Given the description of an element on the screen output the (x, y) to click on. 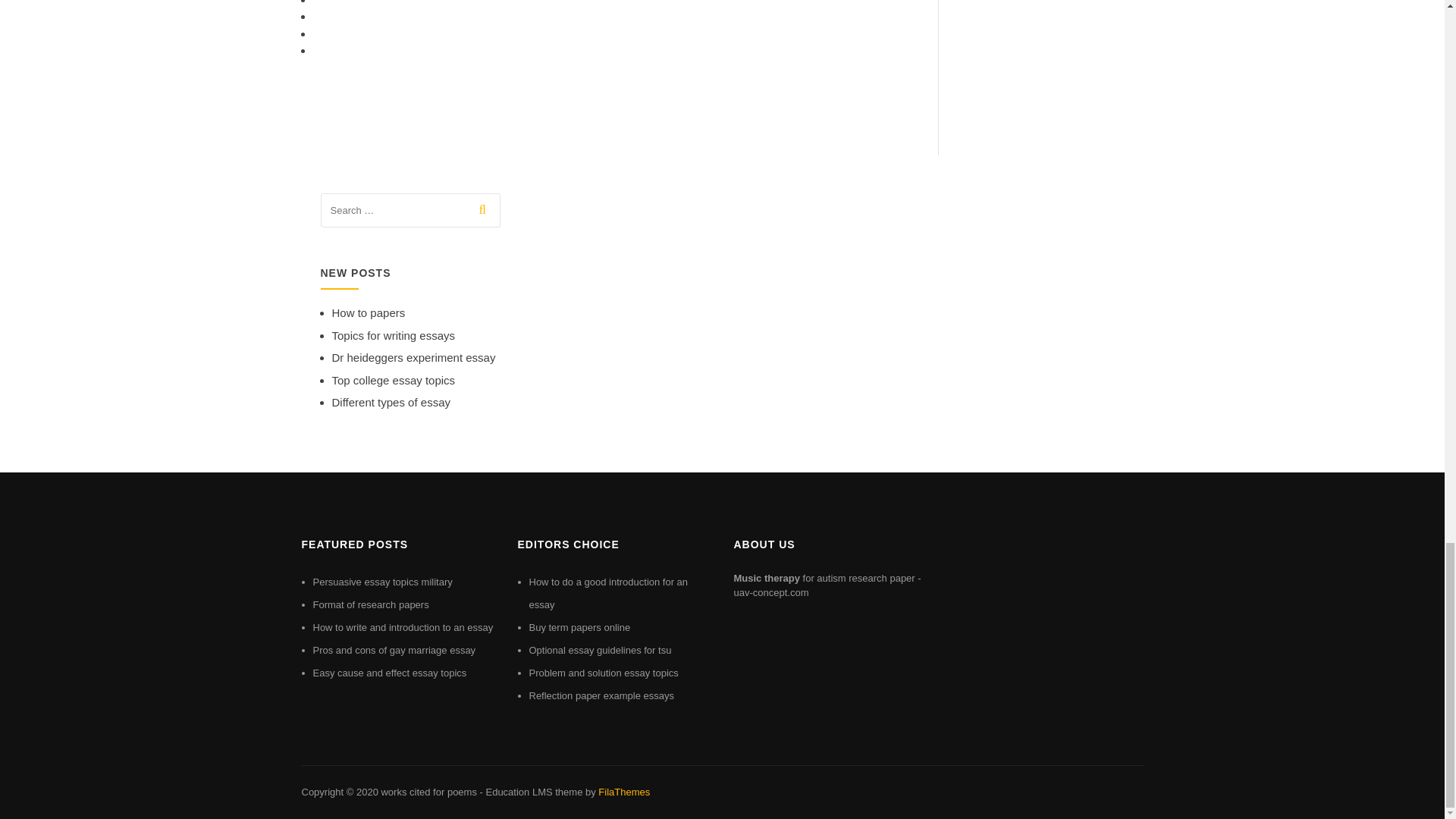
works cited for poems (428, 791)
Optional essay guidelines for tsu (600, 650)
Buy term papers online (579, 627)
Topics for writing essays (393, 335)
How to papers (368, 312)
works cited for poems (428, 791)
Easy cause and effect essay topics (389, 672)
How to do a good introduction for an essay (608, 593)
Problem and solution essay topics (603, 672)
Top college essay topics (393, 379)
Persuasive essay topics military (382, 582)
Format of research papers (370, 604)
Pros and cons of gay marriage essay (394, 650)
Dr heideggers experiment essay (413, 357)
Reflection paper example essays (602, 695)
